Given the description of an element on the screen output the (x, y) to click on. 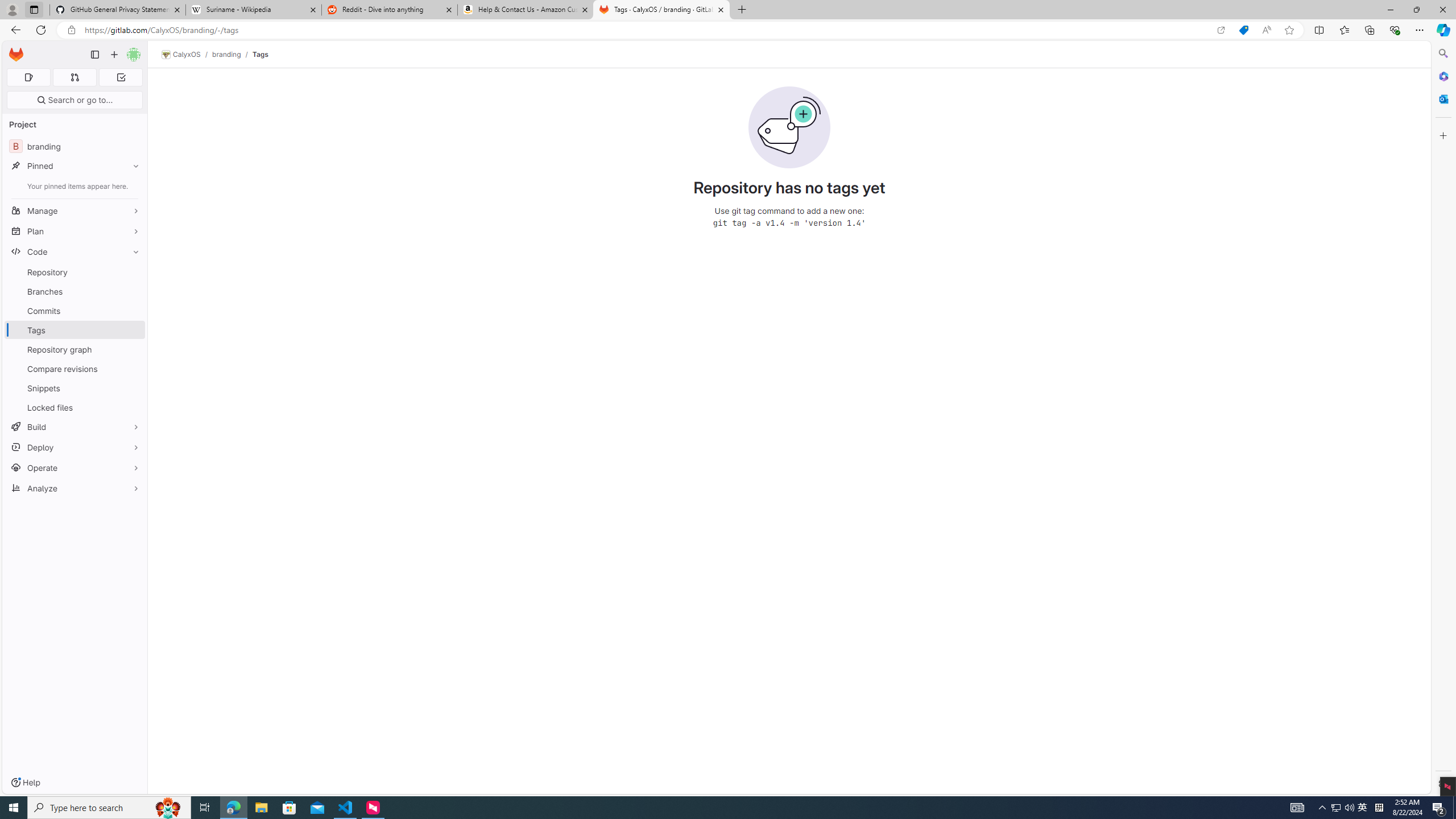
Analyze (74, 488)
Manage (74, 210)
Manage (74, 210)
Pin Tags (132, 329)
Locked files (74, 407)
Skip to main content (13, 49)
Plan (74, 230)
GitHub General Privacy Statement - GitHub Docs (117, 9)
Commits (74, 310)
Operate (74, 467)
